Given the description of an element on the screen output the (x, y) to click on. 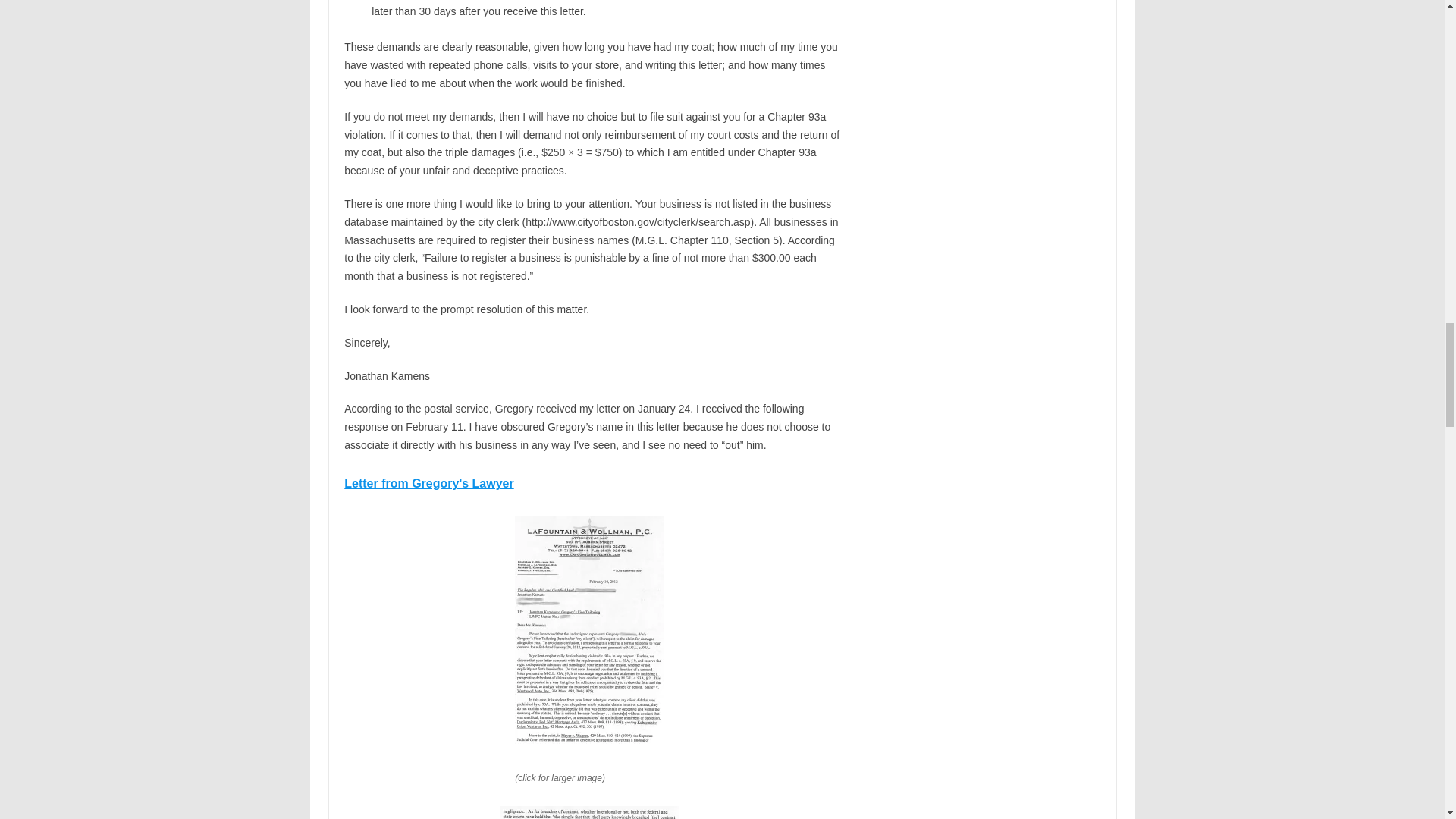
Letter from Gregory's Lawyer (428, 482)
Lawyer Letter Page 2 (589, 812)
